Given the description of an element on the screen output the (x, y) to click on. 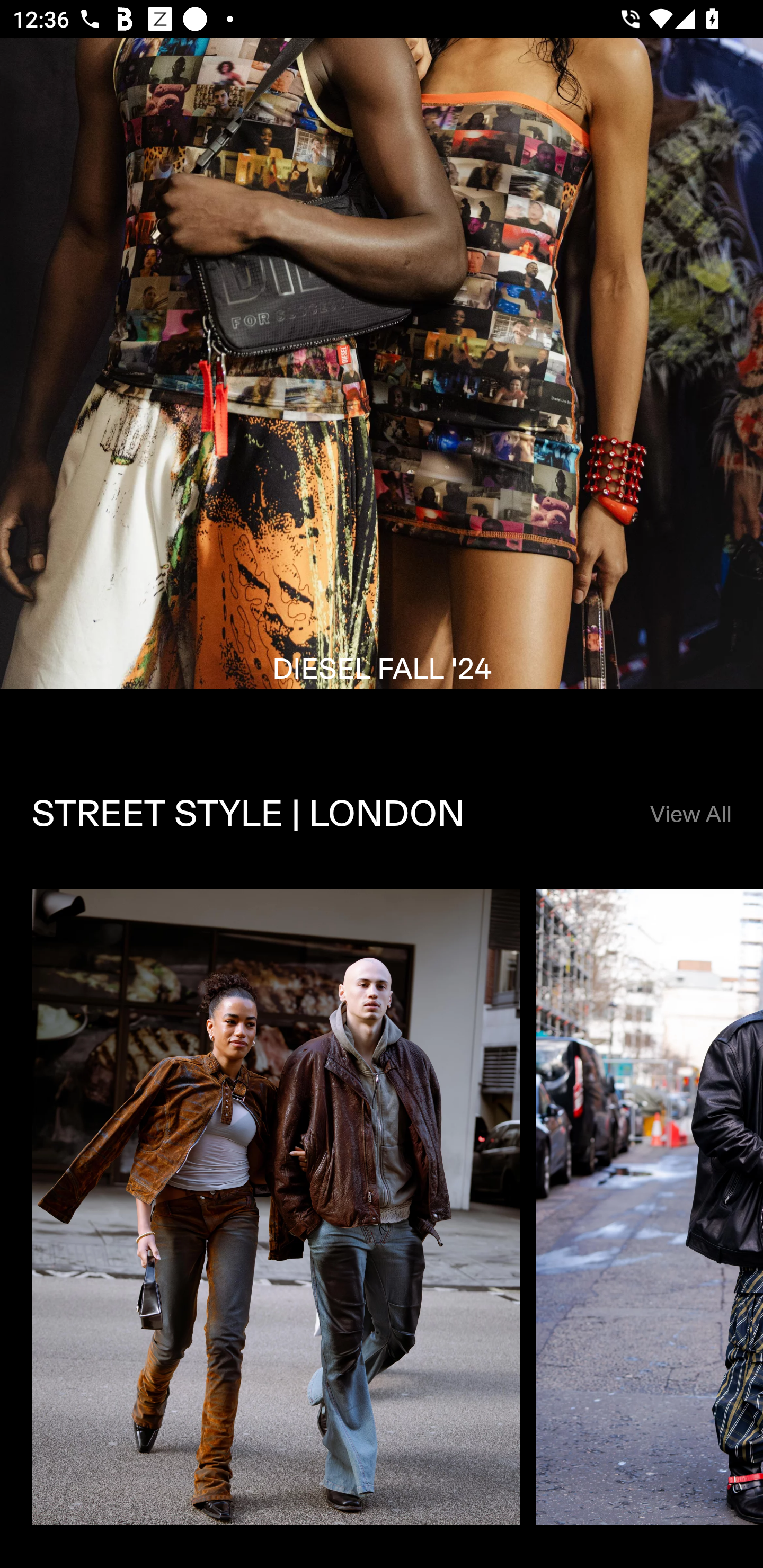
FIRST LOOKS DIESEL FALL '24 (381, 388)
View All (690, 814)
